Given the description of an element on the screen output the (x, y) to click on. 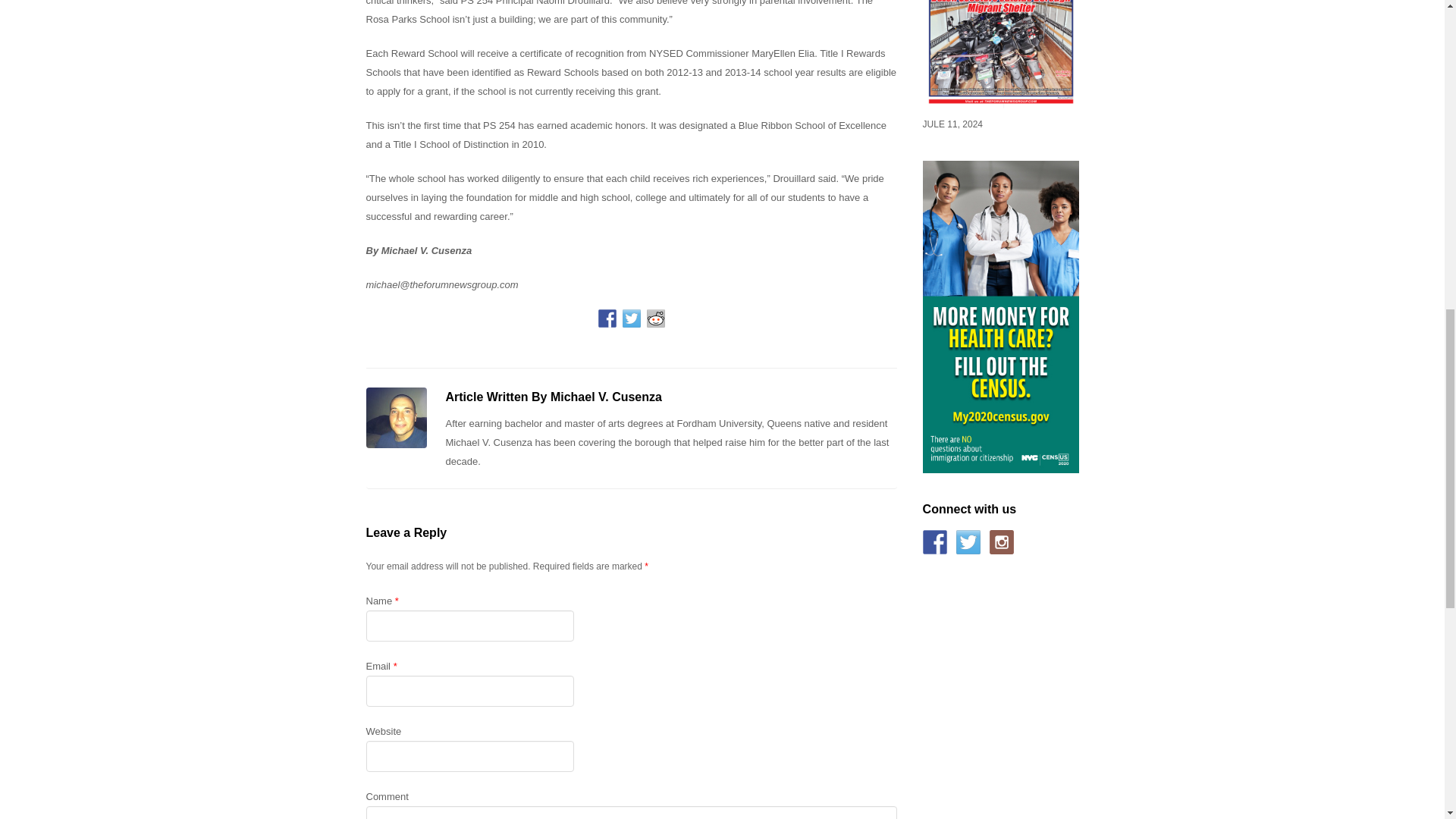
Share on Reddit (655, 318)
THIS WEEK (1000, 104)
Share on Facebook (606, 318)
Share on Twitter (631, 318)
